Given the description of an element on the screen output the (x, y) to click on. 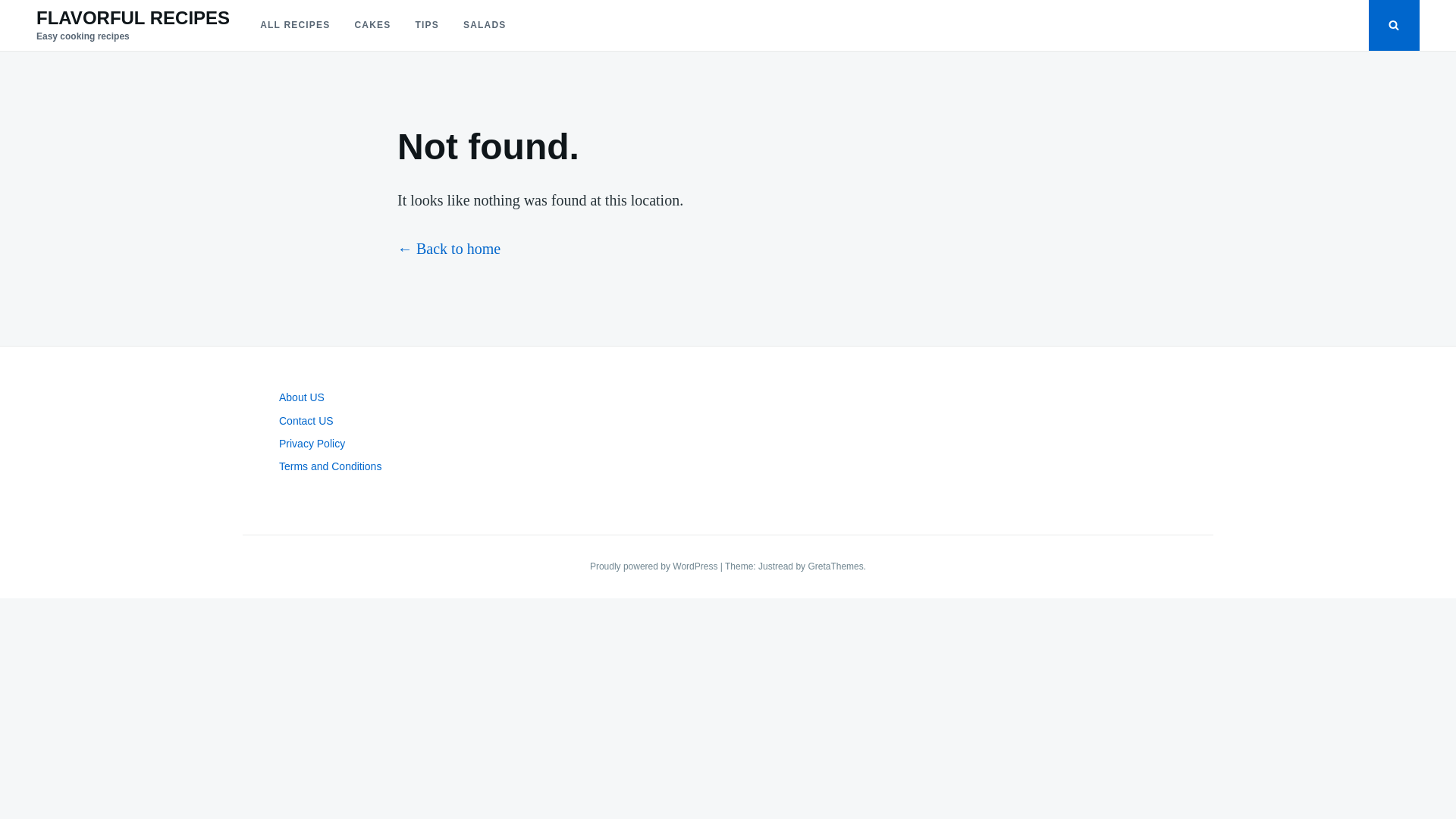
Proudly powered by WordPress (654, 566)
CAKES (372, 25)
Contact US (306, 420)
Privacy Policy (312, 443)
About US (301, 397)
FLAVORFUL RECIPES (133, 17)
GretaThemes (835, 566)
SALADS (484, 25)
Terms and Conditions (330, 466)
ALL RECIPES (294, 25)
